Given the description of an element on the screen output the (x, y) to click on. 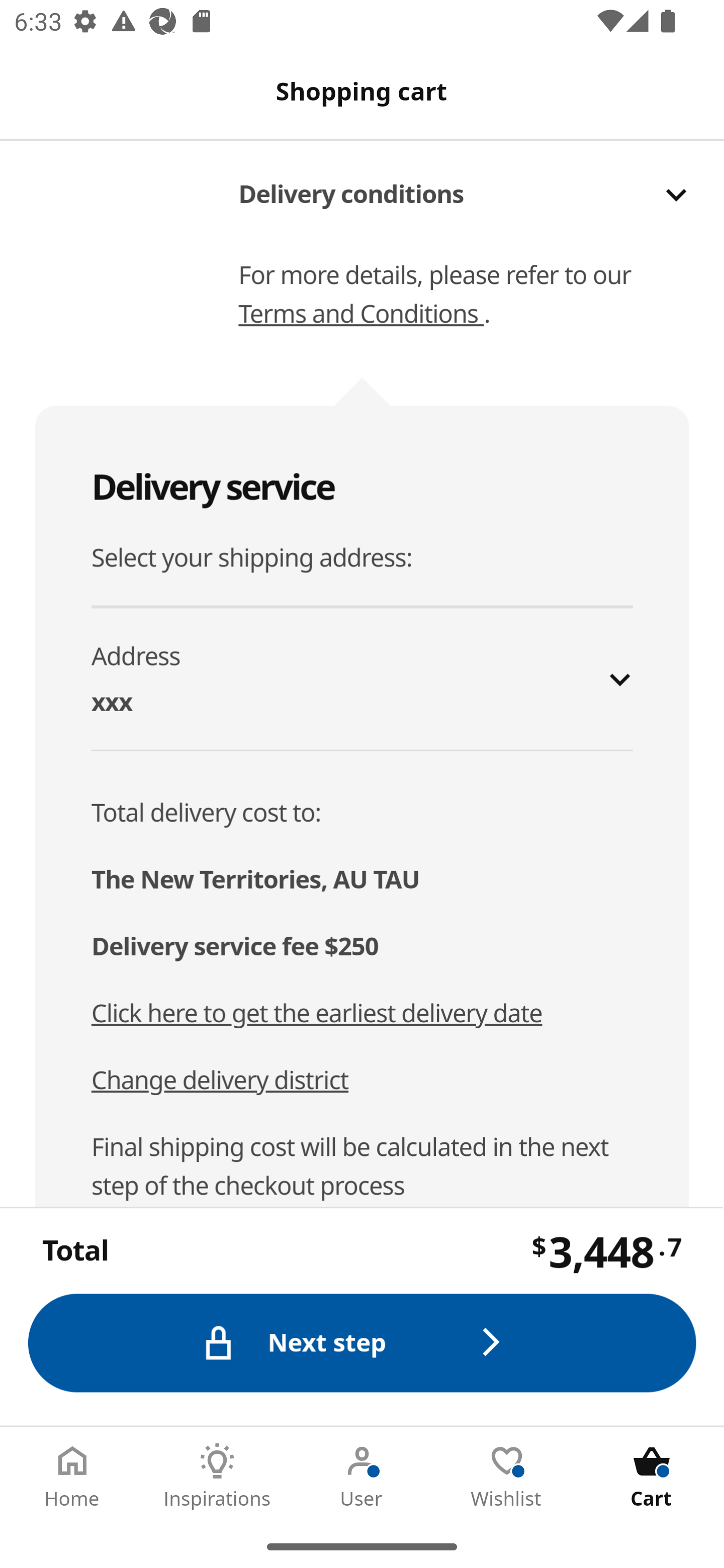
Delivery conditions  Delivery conditions  (464, 184)
Terms and Conditions  (361, 314)
Address xxx  (362, 677)
Click here to get the earliest delivery date (317, 1012)
Change delivery district (220, 1080)
Home
Tab 1 of 5 (72, 1476)
Inspirations
Tab 2 of 5 (216, 1476)
User
Tab 3 of 5 (361, 1476)
Wishlist
Tab 4 of 5 (506, 1476)
Cart
Tab 5 of 5 (651, 1476)
